Given the description of an element on the screen output the (x, y) to click on. 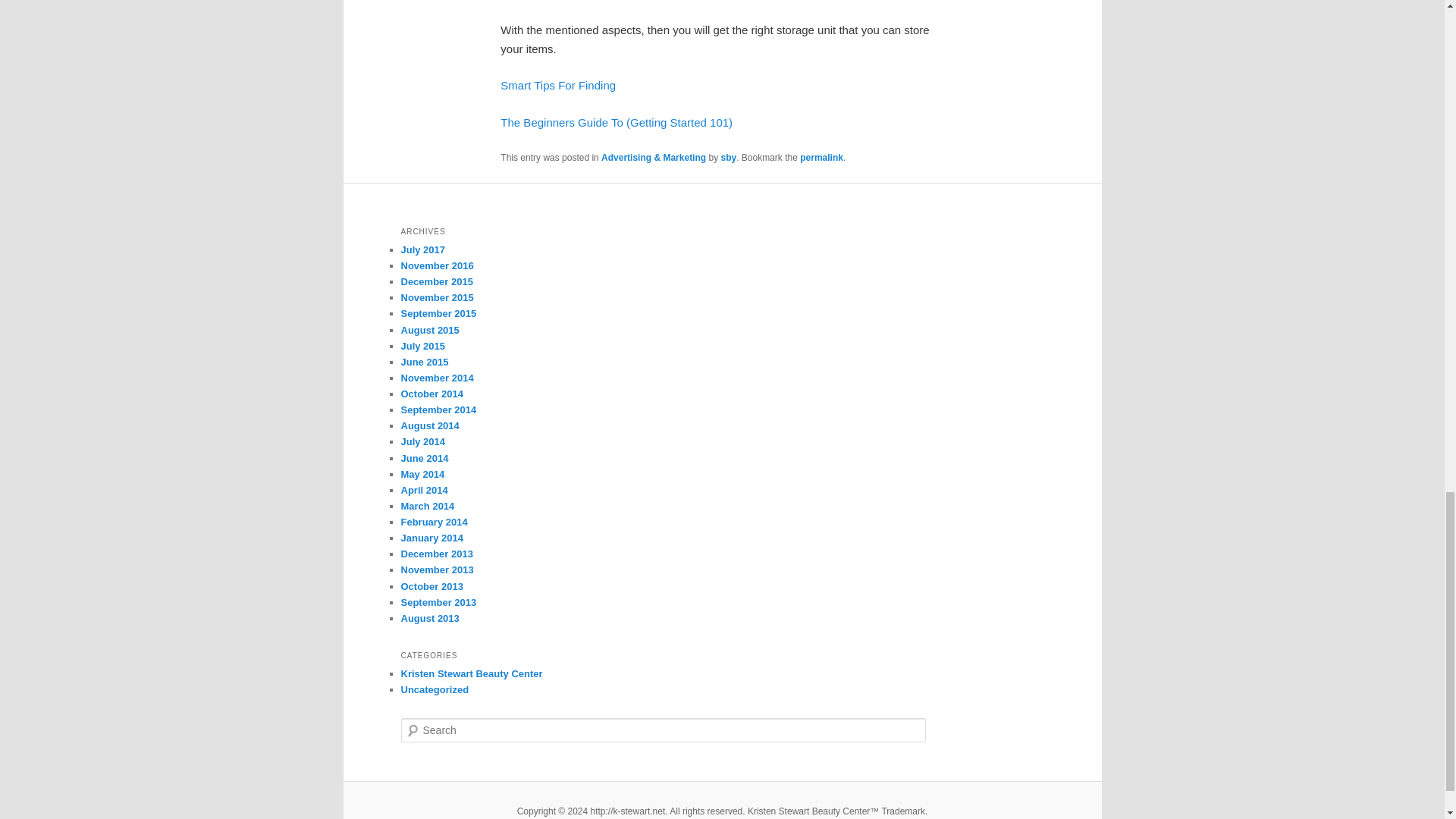
June 2015 (424, 361)
May 2014 (422, 473)
January 2014 (431, 537)
permalink (821, 157)
July 2014 (422, 441)
November 2015 (436, 297)
View all posts filed under Kristen Stewart Beauty Center (470, 673)
June 2014 (424, 458)
July 2015 (422, 346)
February 2014 (433, 521)
September 2015 (438, 313)
August 2015 (429, 329)
November 2014 (436, 378)
September 2014 (438, 409)
April 2014 (423, 490)
